Given the description of an element on the screen output the (x, y) to click on. 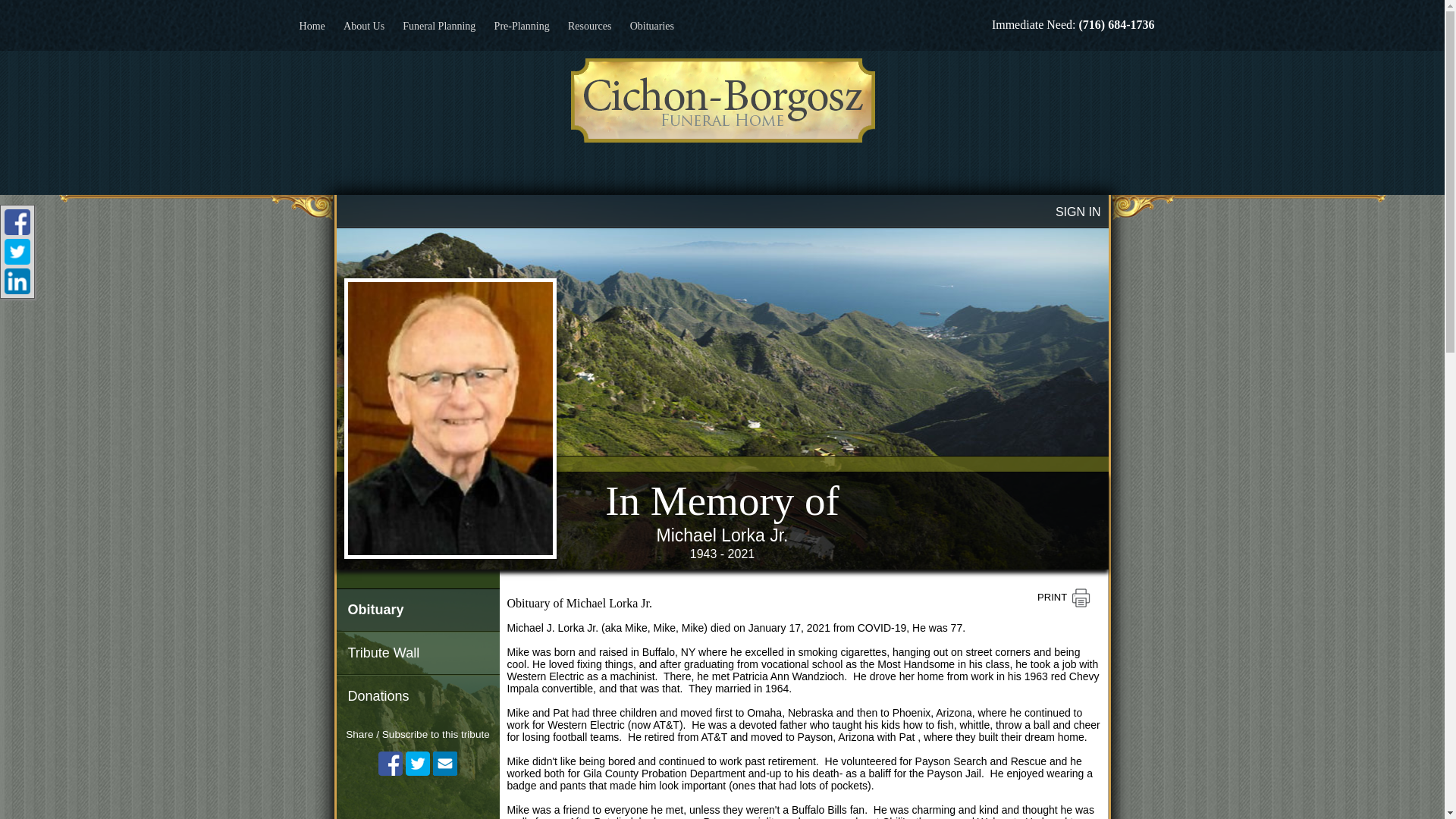
Pre-Planning (521, 25)
SIGN IN (1077, 211)
About Us (363, 25)
Resources (589, 25)
Obituaries (651, 25)
Donations (417, 696)
Obituary (417, 609)
Tribute Wall (417, 653)
Facebook (390, 763)
Receive Notifications (444, 763)
Print (1063, 597)
Funeral Planning (438, 25)
Twitter (417, 763)
